Given the description of an element on the screen output the (x, y) to click on. 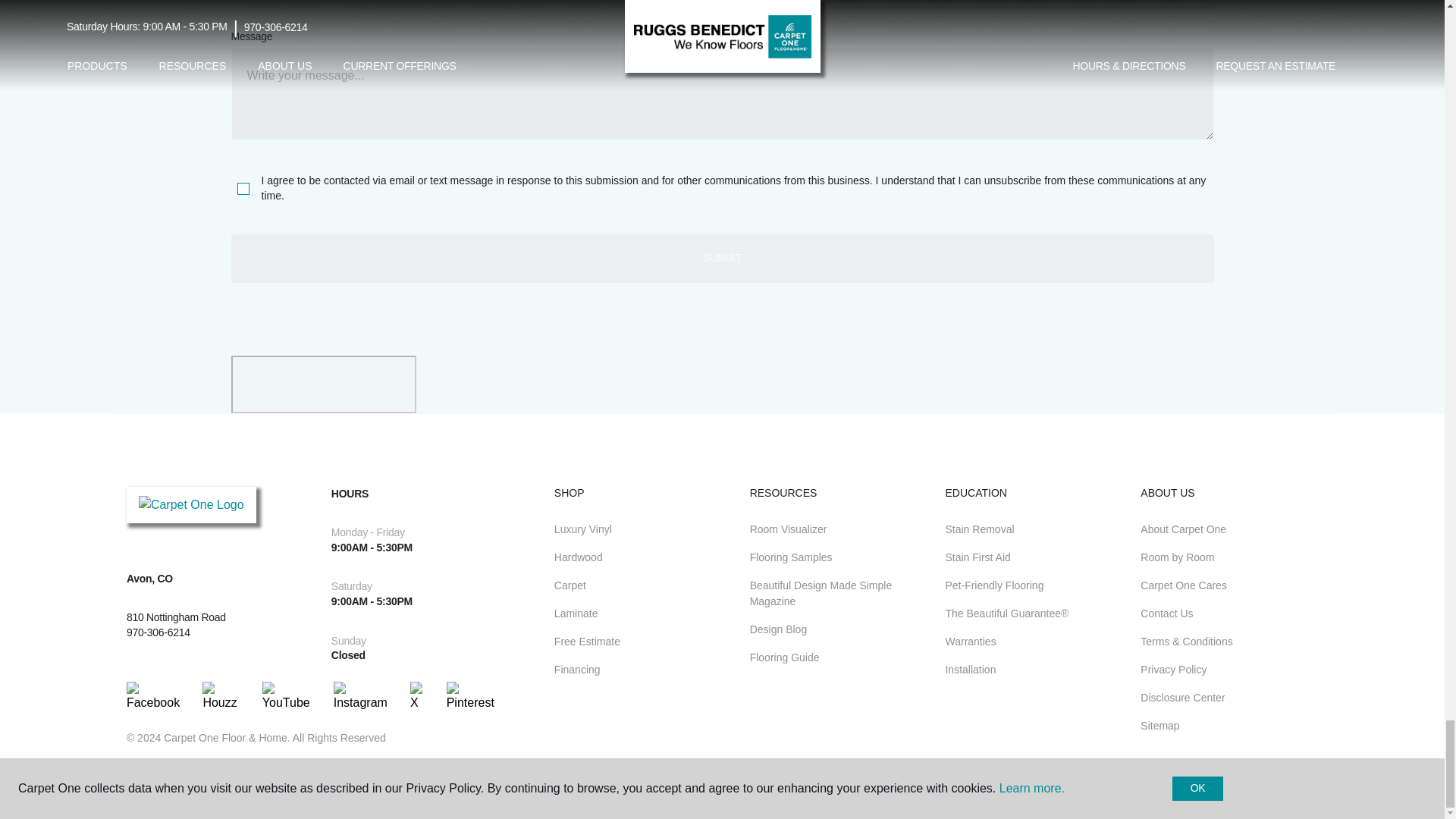
MyMessage (721, 93)
PostalCode (471, 4)
